Given the description of an element on the screen output the (x, y) to click on. 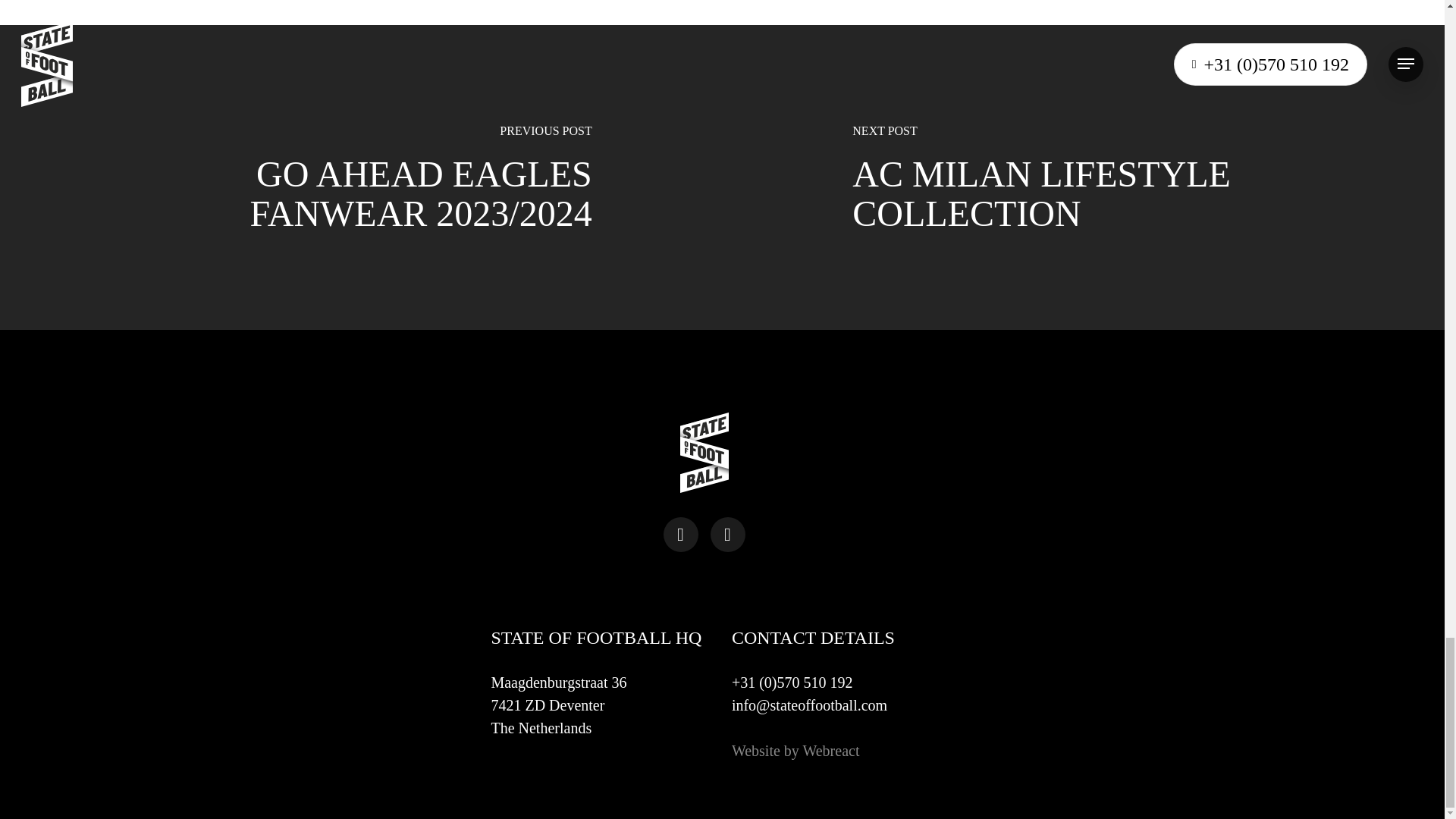
Website by Webreact (796, 750)
